Given the description of an element on the screen output the (x, y) to click on. 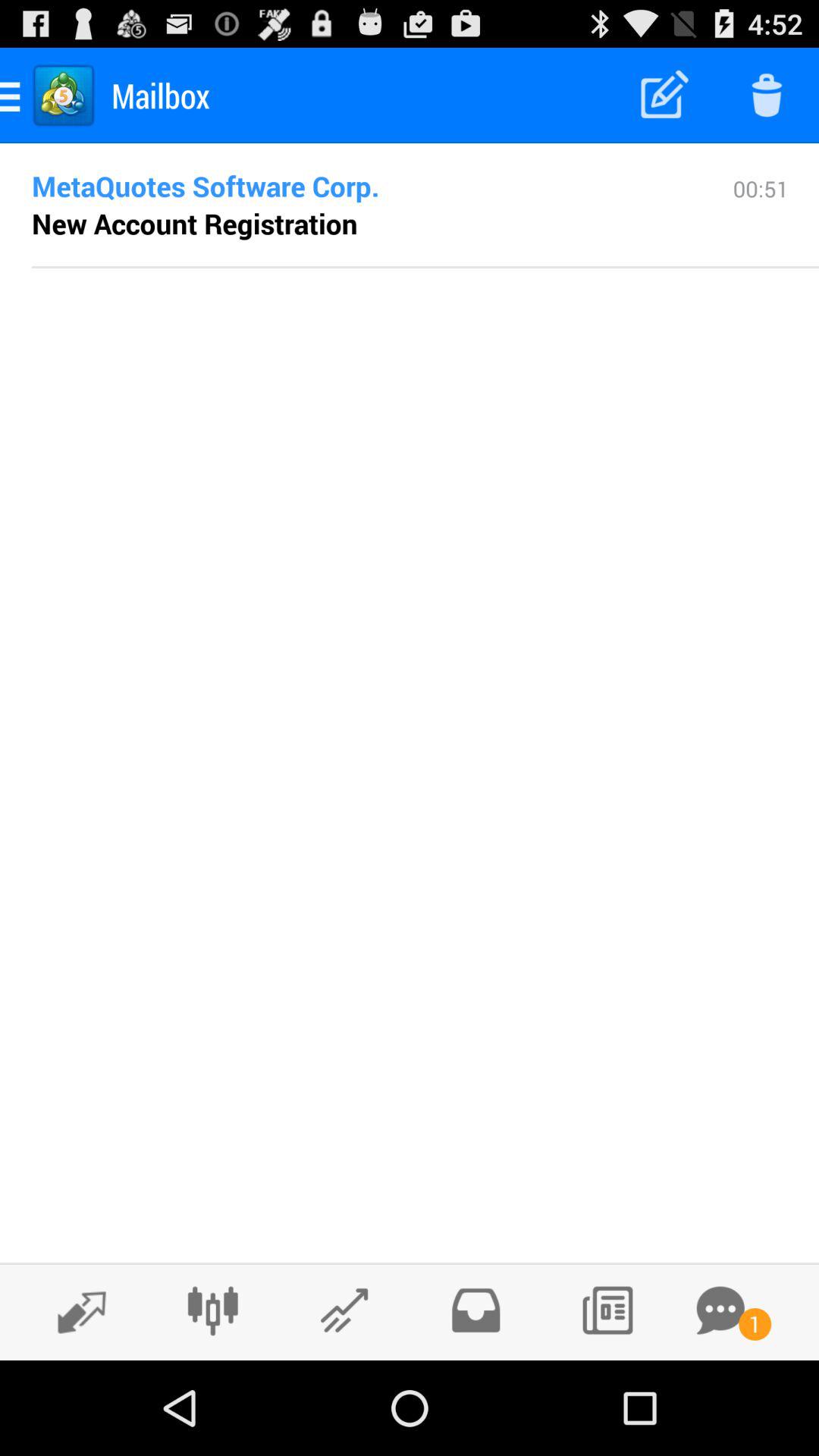
check rising stocks (344, 1310)
